Given the description of an element on the screen output the (x, y) to click on. 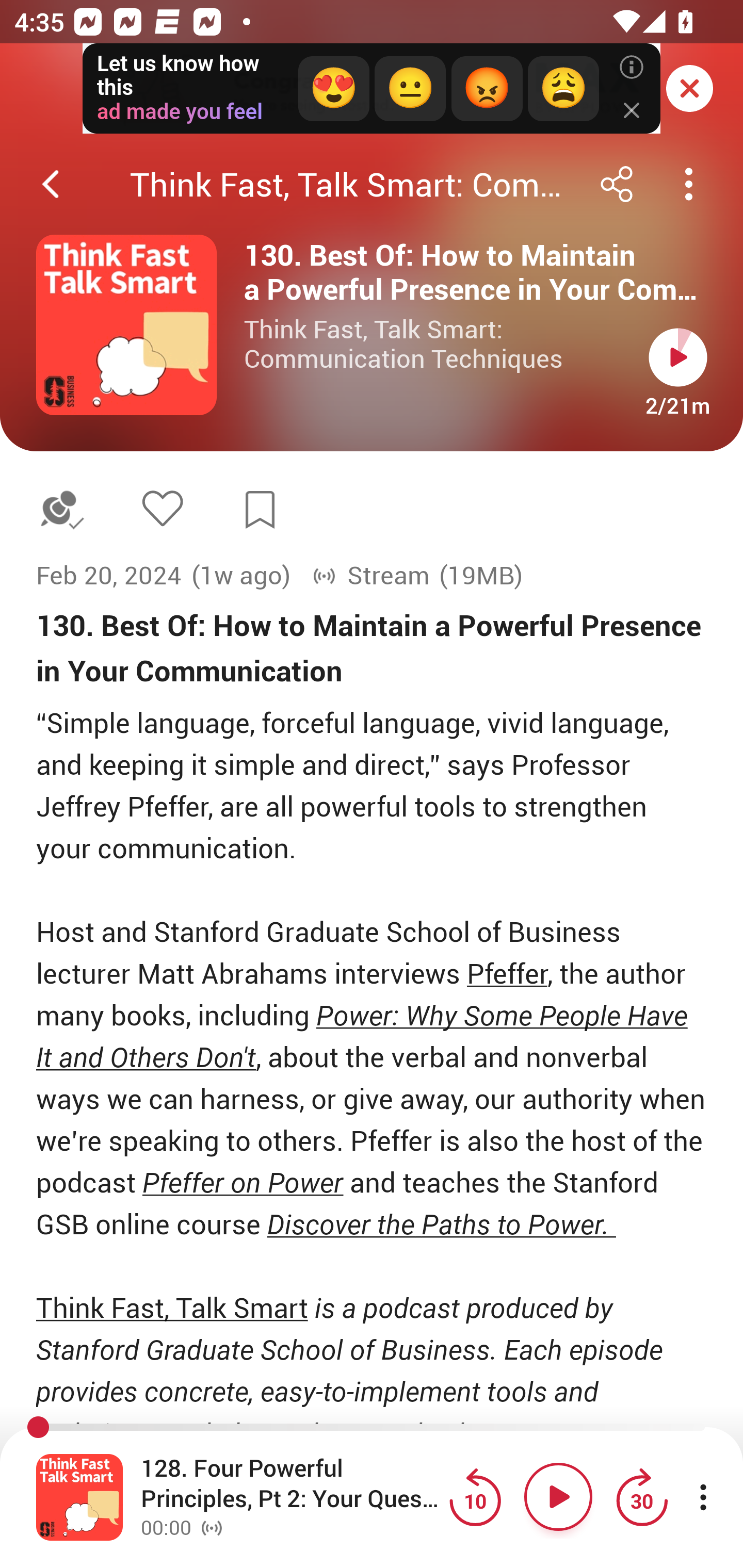
app-monetization (371, 88)
😍 (333, 88)
😐 (409, 88)
😡 (487, 88)
😩 (562, 88)
Back (50, 184)
Open series (126, 325)
Play button (677, 357)
Like (161, 507)
Remove episode from Play Later (60, 510)
New bookmark … (259, 510)
Stream (370, 576)
Open fullscreen player (79, 1497)
More player controls (703, 1497)
Play button (558, 1496)
Jump back (475, 1497)
Jump forward (641, 1497)
